Given the description of an element on the screen output the (x, y) to click on. 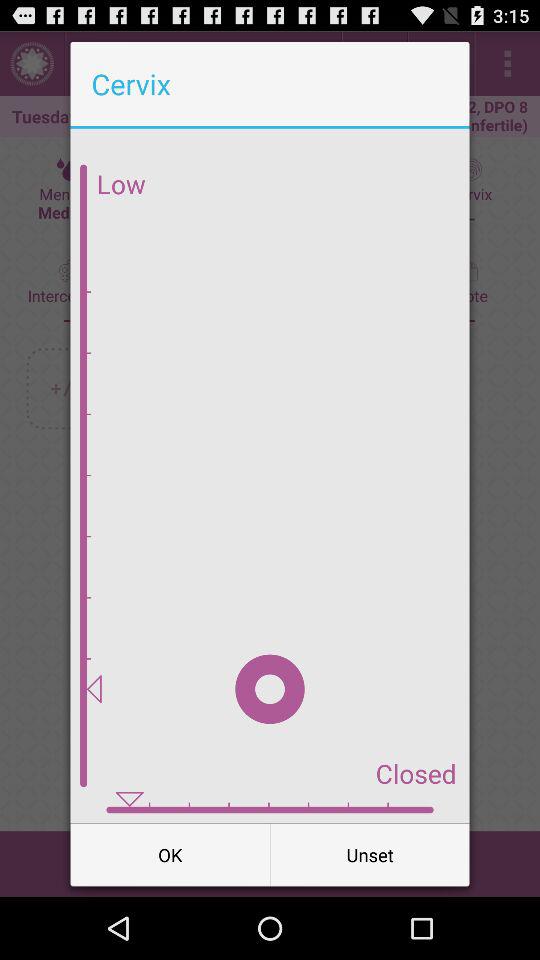
turn on the ok item (170, 854)
